Given the description of an element on the screen output the (x, y) to click on. 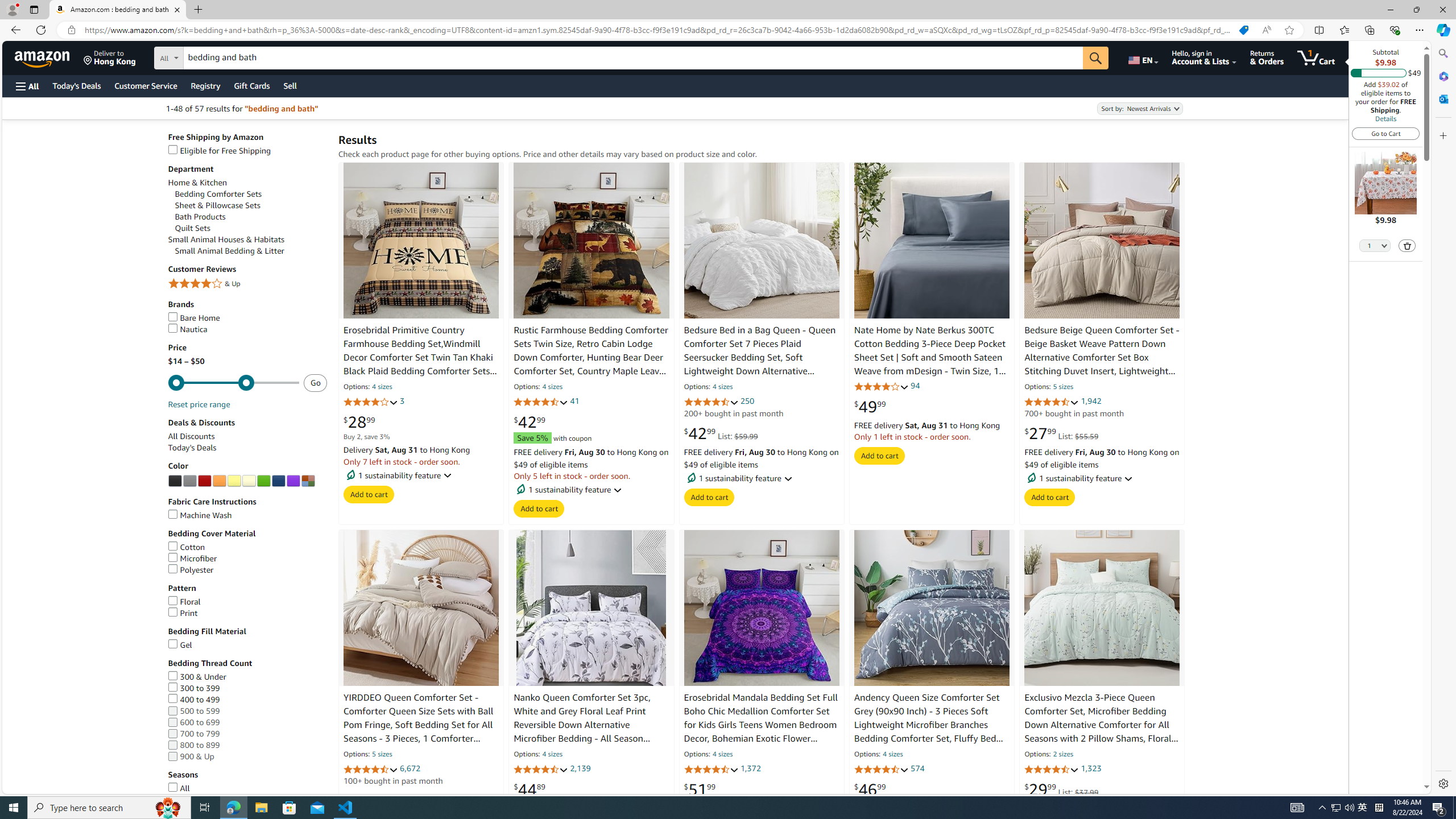
Bath Products (199, 216)
600 to 699 (247, 722)
Quilt Sets (192, 227)
All (247, 788)
Polyester (247, 569)
$42.99 (529, 421)
